Given the description of an element on the screen output the (x, y) to click on. 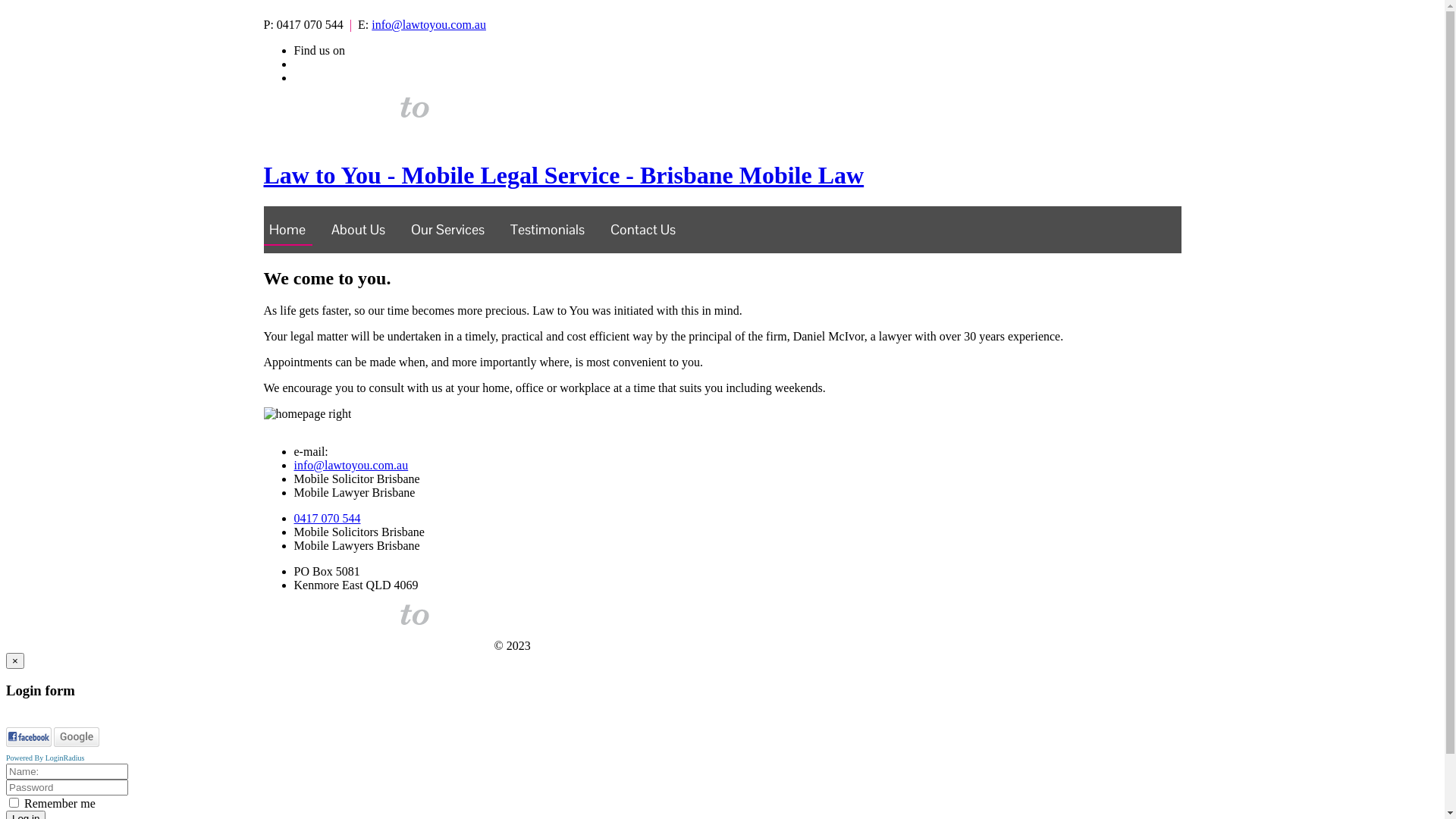
Powered By LoginRadius Element type: text (45, 757)
info@lawtoyou.com.au Element type: text (351, 464)
Home Element type: text (286, 225)
info@lawtoyou.com.au Element type: text (428, 24)
Contact Us Element type: text (642, 225)
Login with Google Element type: hover (76, 736)
Testimonials Element type: text (547, 225)
0417 070 544 Element type: text (327, 517)
Law to You - Mobile Legal Service - Brisbane Mobile Law Element type: text (722, 160)
Login with Facebook Element type: hover (28, 736)
Our Services Element type: text (448, 225)
About Us Element type: text (358, 225)
